Given the description of an element on the screen output the (x, y) to click on. 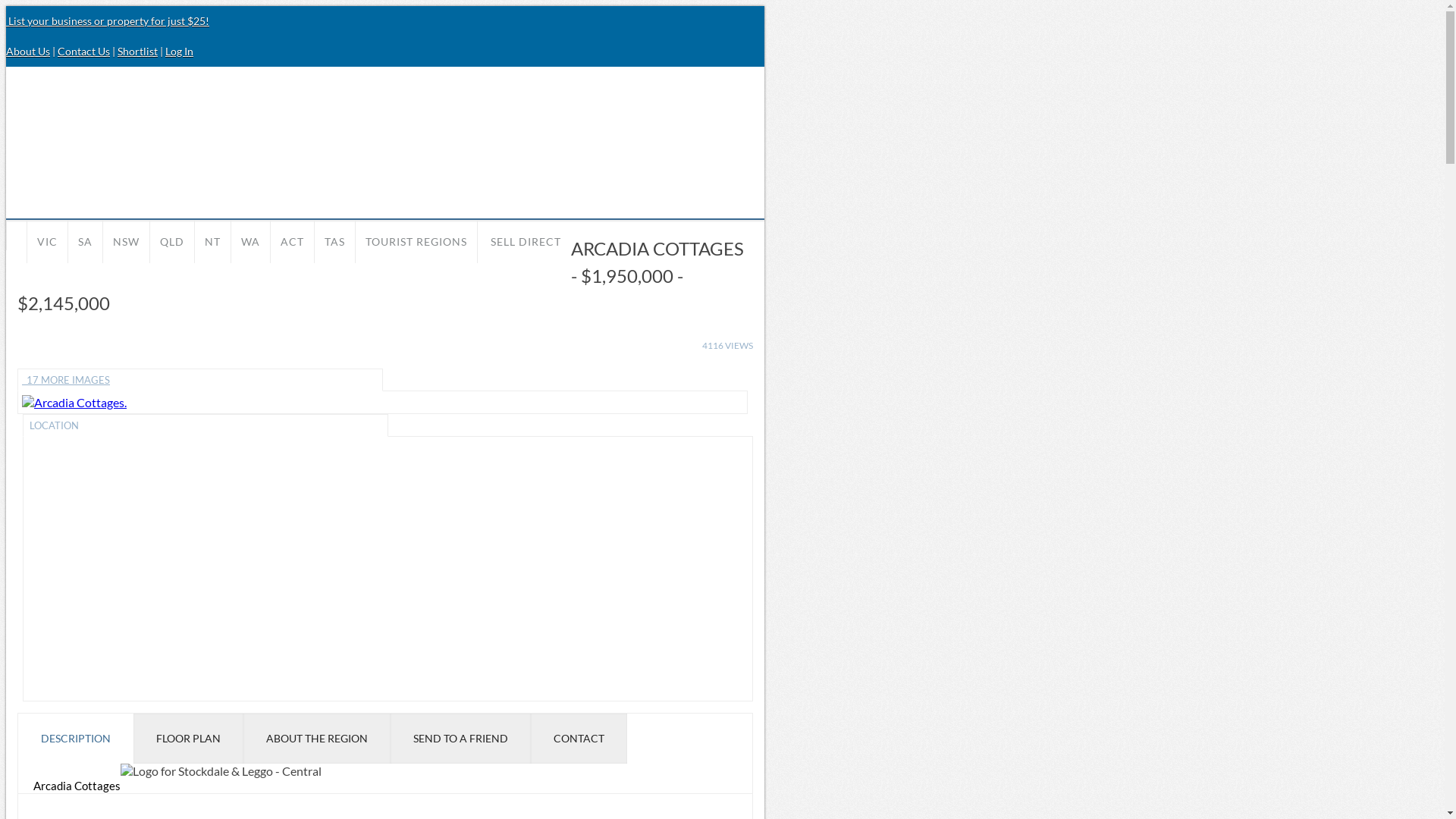
NT Element type: text (212, 241)
DESCRIPTION Element type: text (75, 738)
 SELL DIRECT Element type: text (524, 241)
ACT Element type: text (291, 241)
CONTACT Element type: text (578, 738)
 List your business or property for just $25! Element type: text (107, 20)
SA Element type: text (85, 241)
Shortlist Element type: text (137, 50)
QLD Element type: text (172, 241)
NSW Element type: text (126, 241)
Home Element type: hover (16, 234)
ABOUT THE REGION Element type: text (316, 738)
About Us Element type: text (28, 50)
TAS Element type: text (334, 241)
VIC Element type: text (47, 241)
Log In Element type: text (179, 50)
Contact Us Element type: text (83, 50)
  17 MORE IMAGES Element type: text (199, 379)
FLOOR PLAN Element type: text (188, 738)
Logo for Stockdale & Leggo - Central Element type: hover (220, 770)
TOURIST REGIONS Element type: text (415, 241)
. Click to view lightbox of images. Element type: hover (73, 402)
SEND TO A FRIEND Element type: text (460, 738)
WA Element type: text (250, 241)
